Given the description of an element on the screen output the (x, y) to click on. 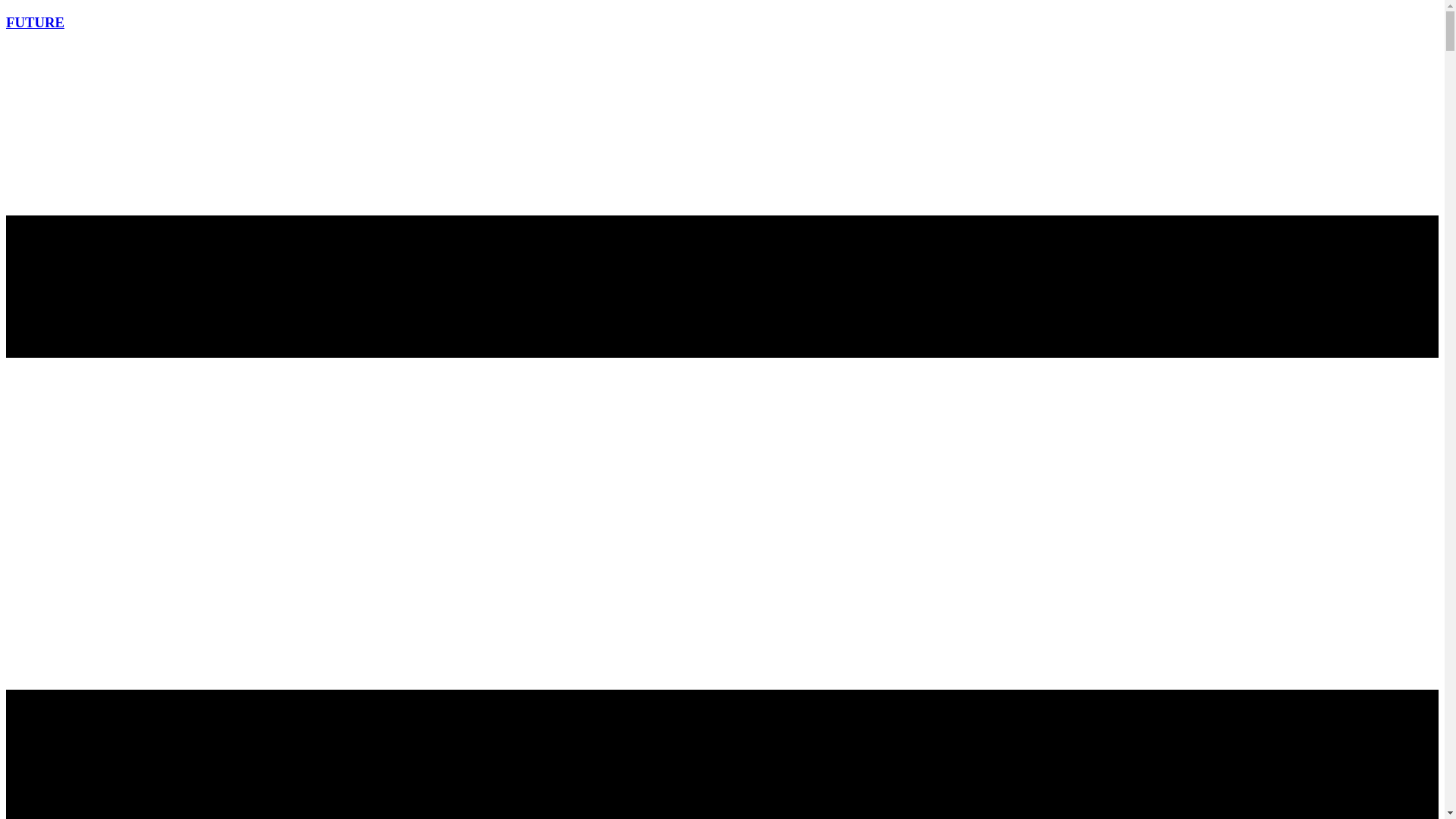
FUTURE (34, 22)
